Given the description of an element on the screen output the (x, y) to click on. 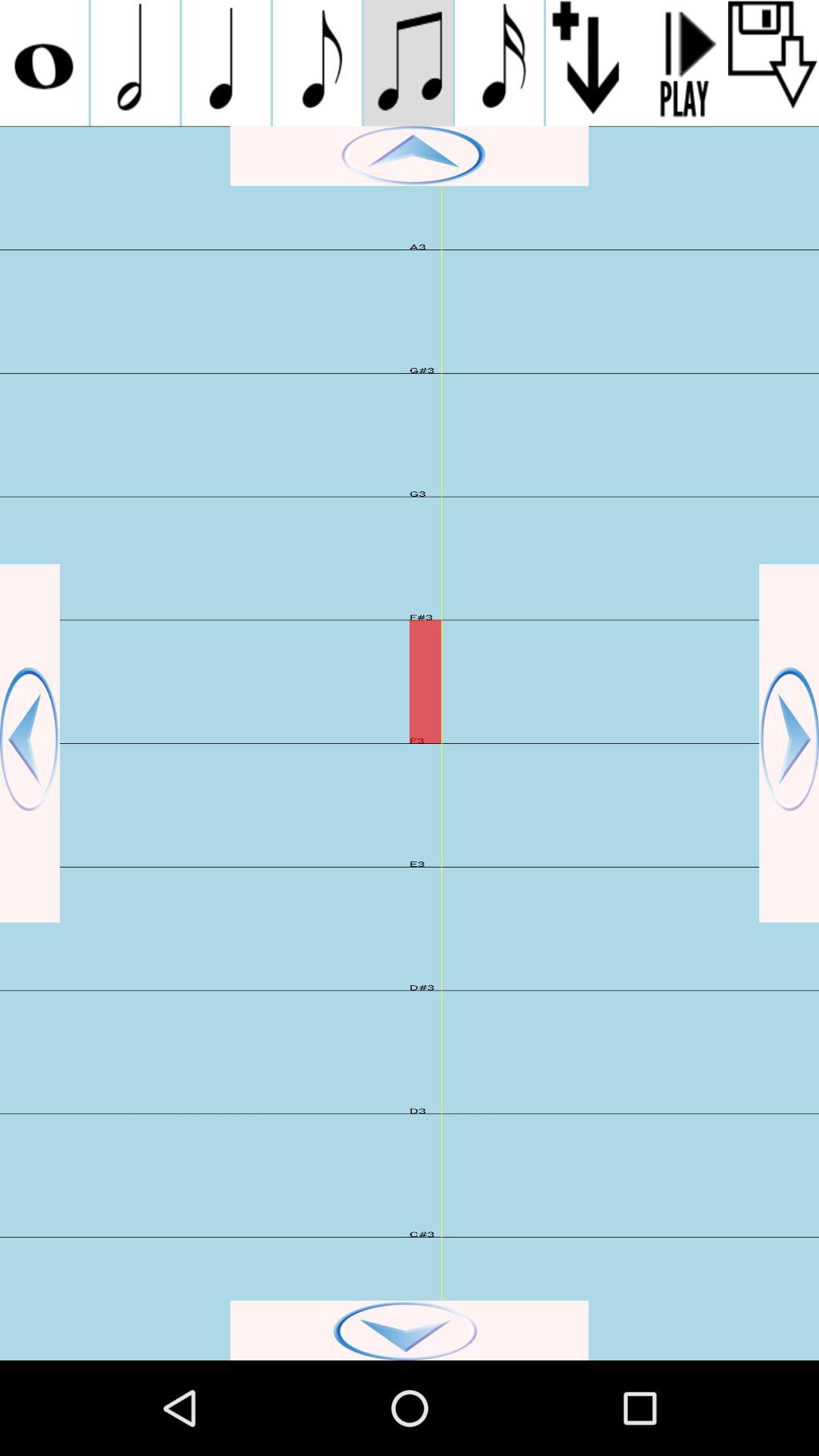
add note (499, 63)
